Given the description of an element on the screen output the (x, y) to click on. 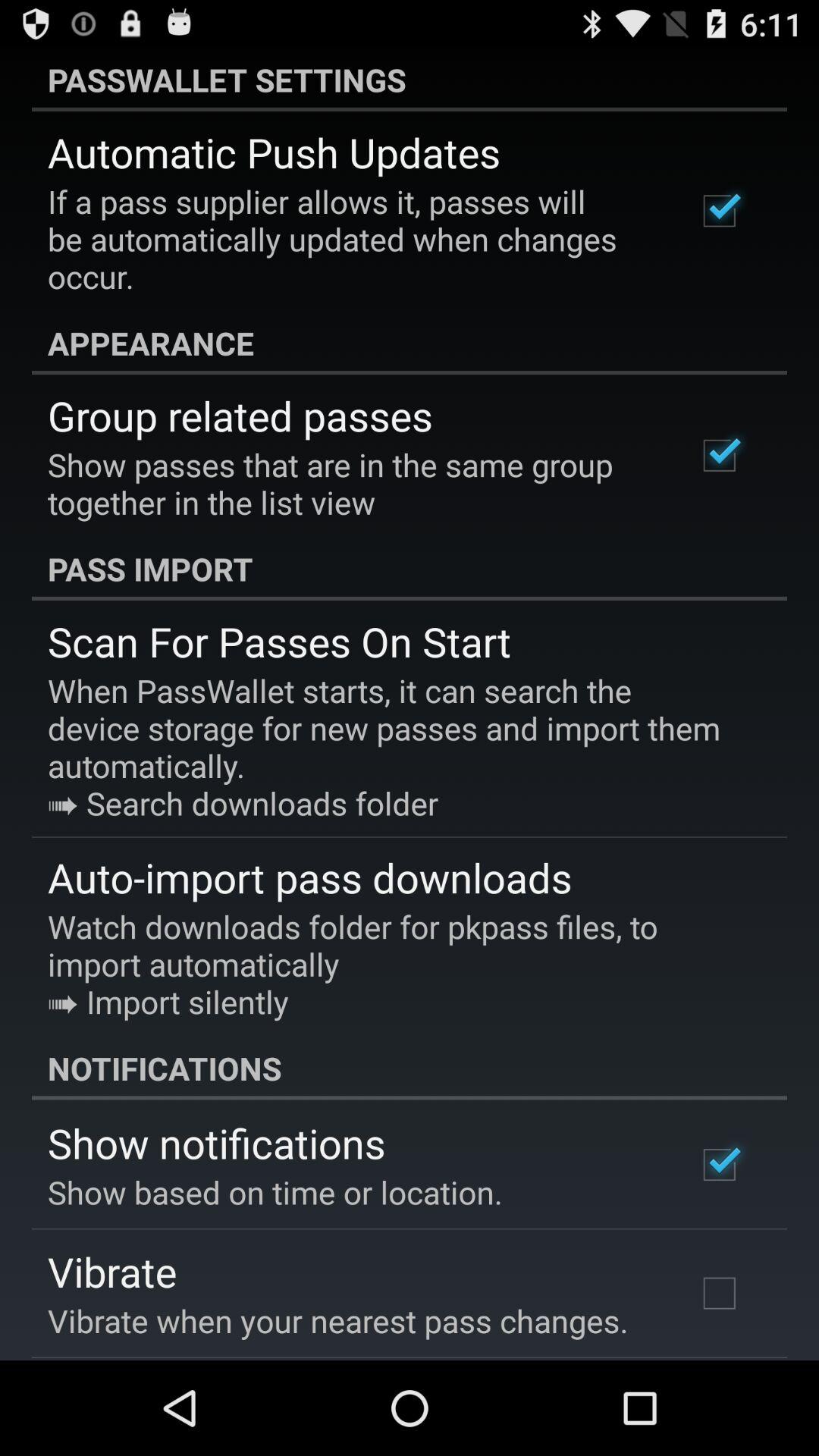
swipe to the show passes that app (351, 483)
